Given the description of an element on the screen output the (x, y) to click on. 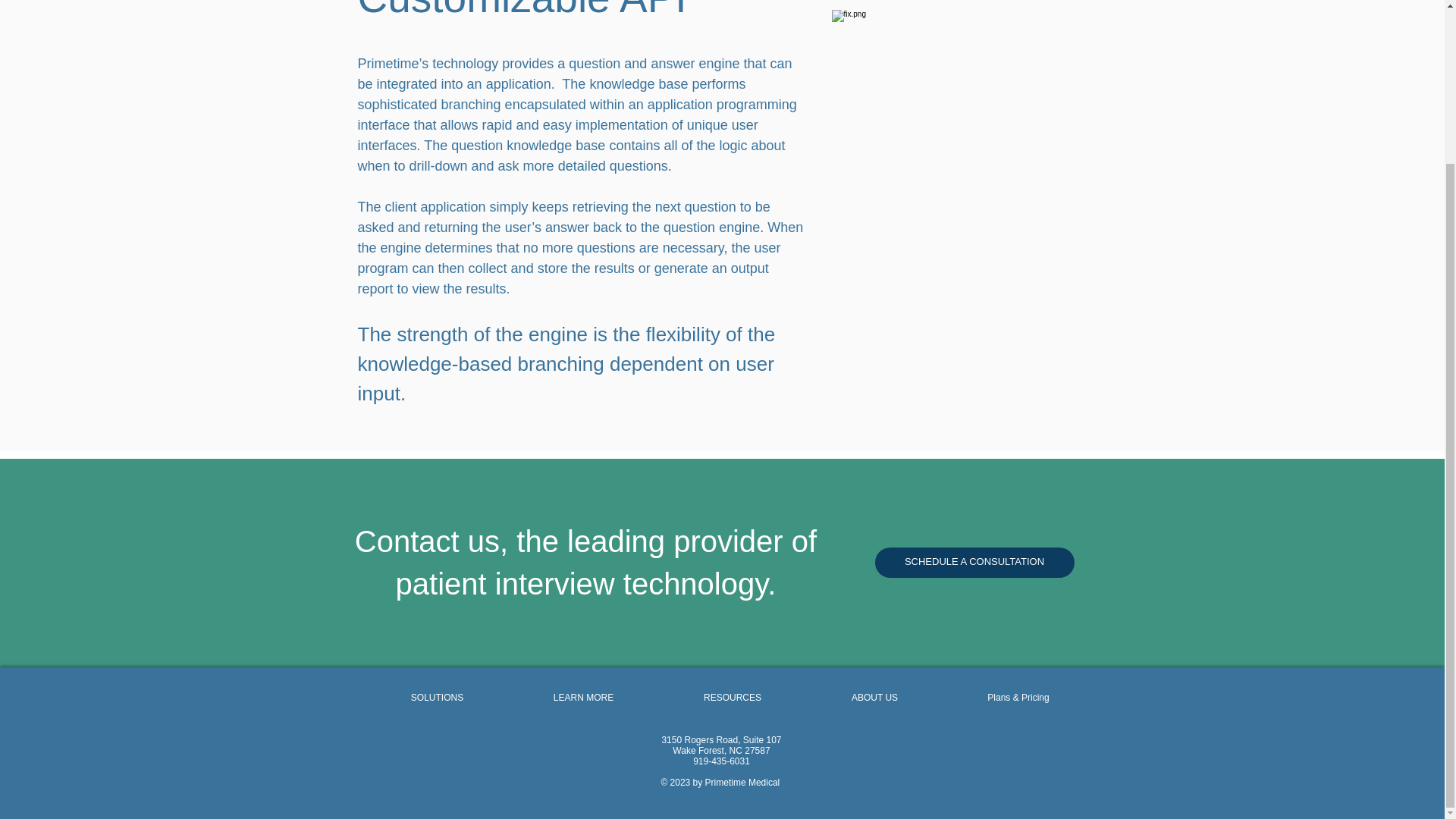
LEARN MORE (583, 697)
SCHEDULE A CONSULTATION (974, 562)
ABOUT US (874, 697)
